Given the description of an element on the screen output the (x, y) to click on. 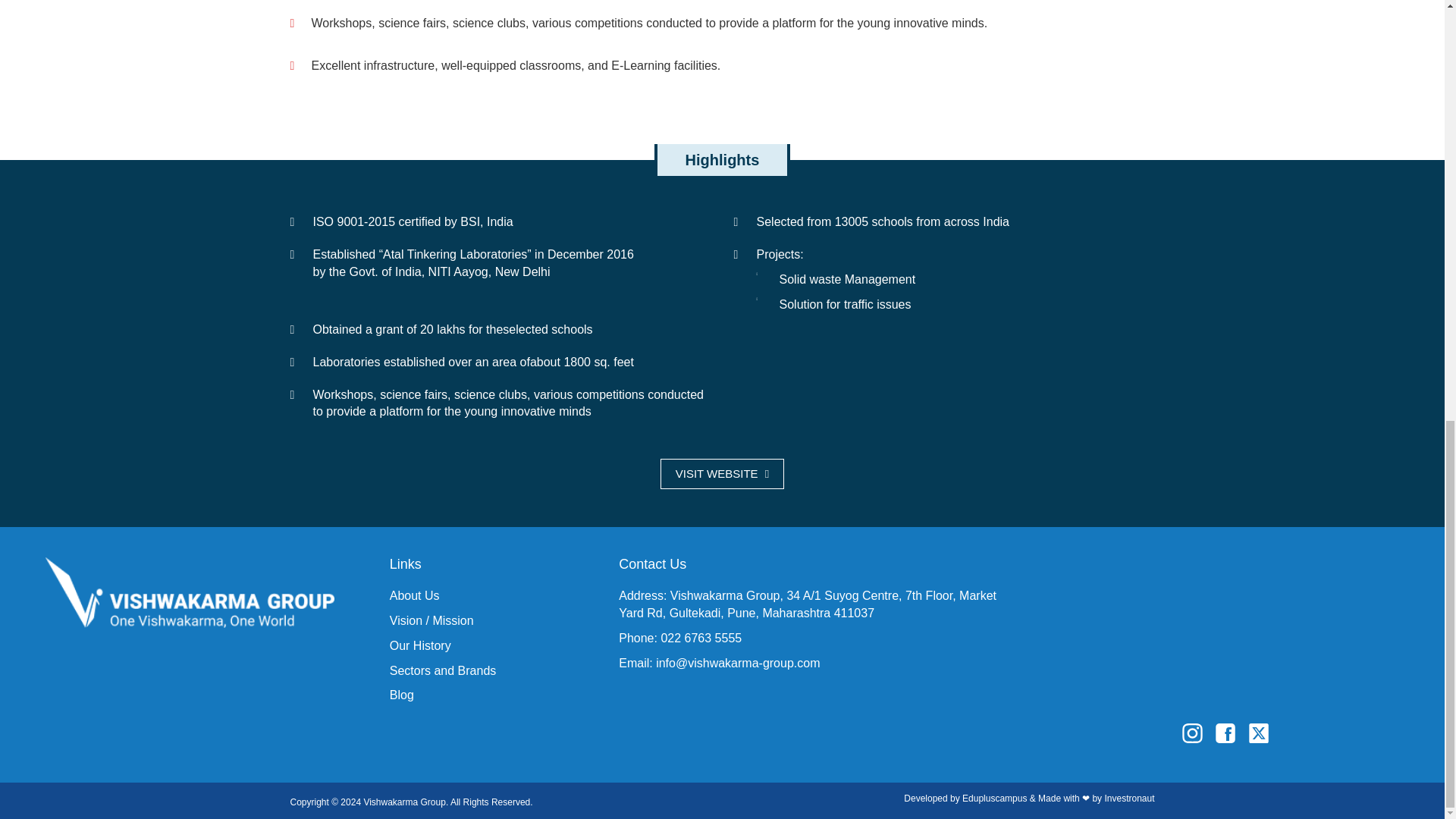
Linkedin (1282, 731)
Facebook (1227, 731)
Instagram (1288, 745)
Twitter (1261, 731)
